Given the description of an element on the screen output the (x, y) to click on. 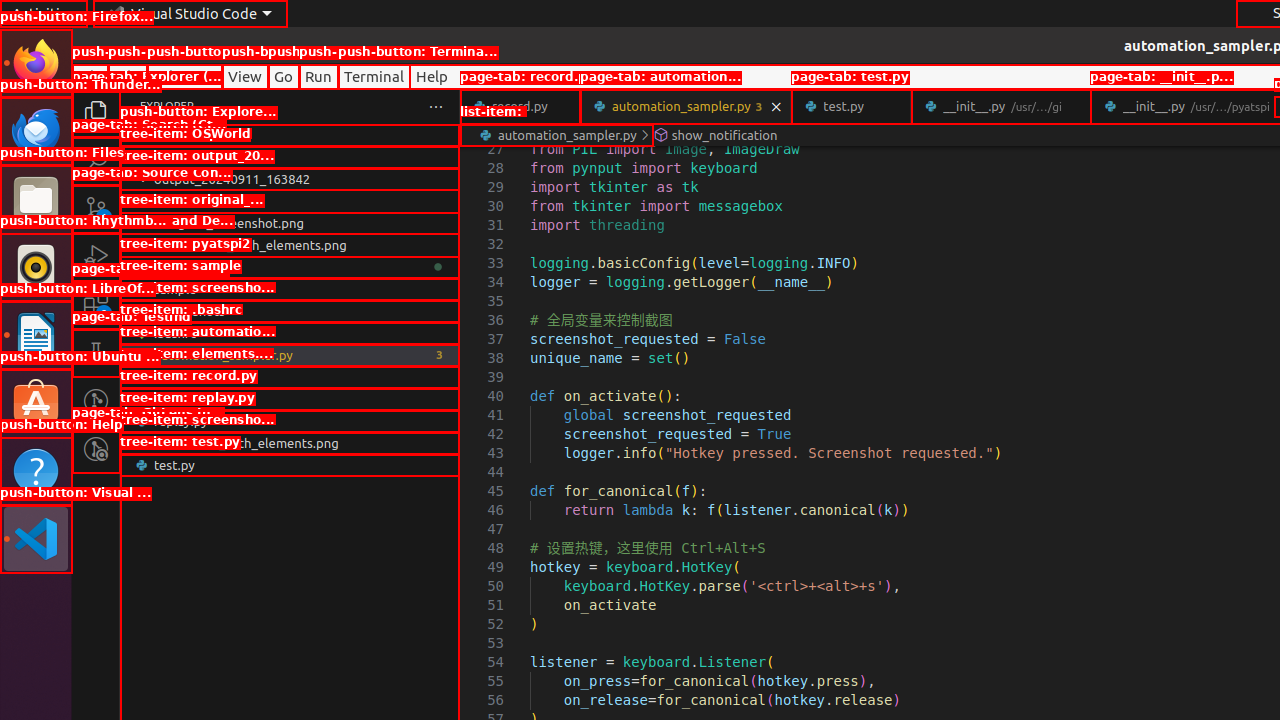
Search (Ctrl+Shift+F) Element type: page-tab (96, 160)
OSWorld Element type: tree-item (289, 157)
test.py Element type: page-tab (851, 106)
Run Element type: push-button (318, 76)
